Given the description of an element on the screen output the (x, y) to click on. 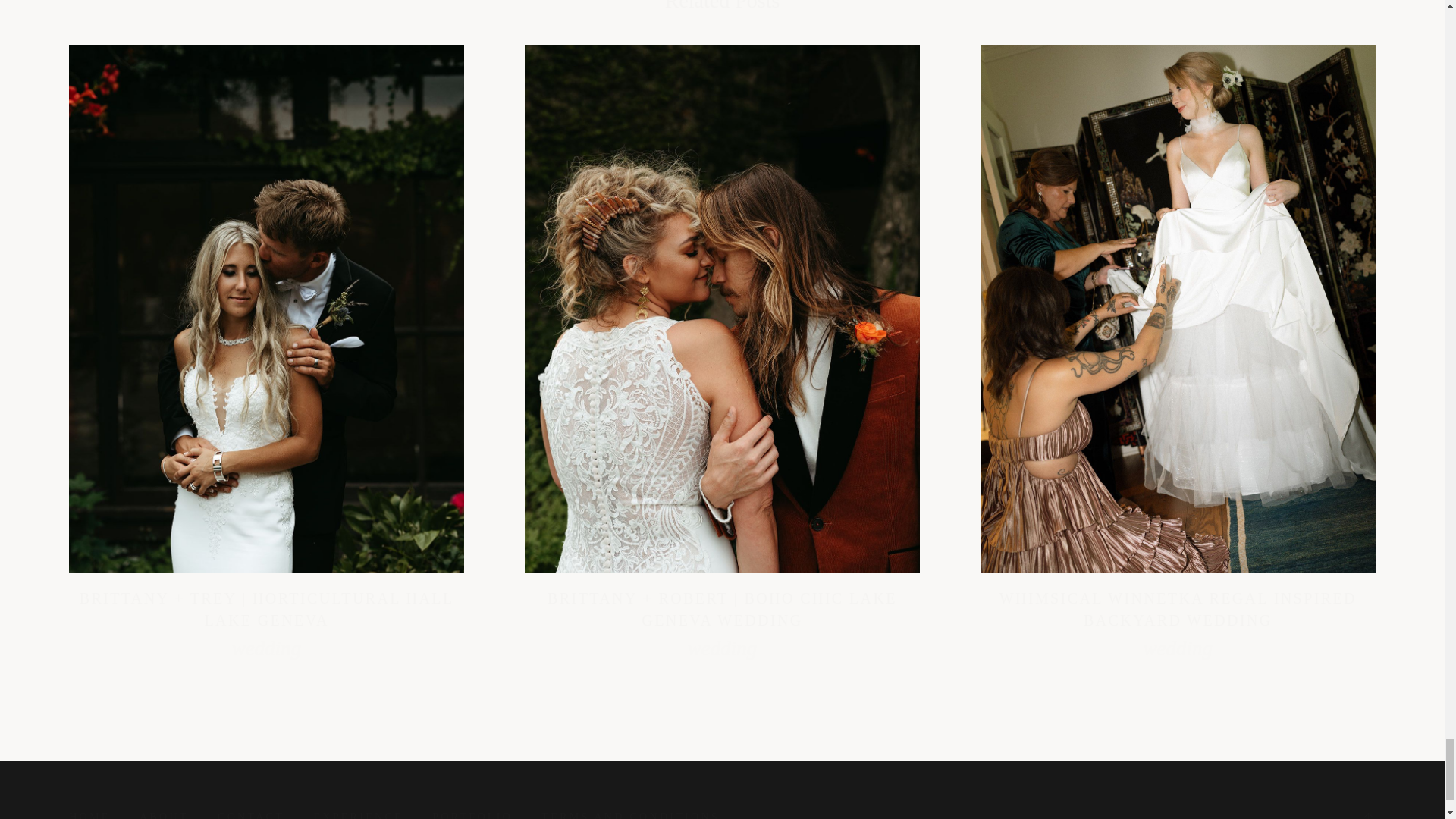
ABOUT (164, 813)
CONTACT (250, 813)
wedding (722, 648)
wedding (266, 648)
wedding (1177, 648)
HOME (90, 813)
